Given the description of an element on the screen output the (x, y) to click on. 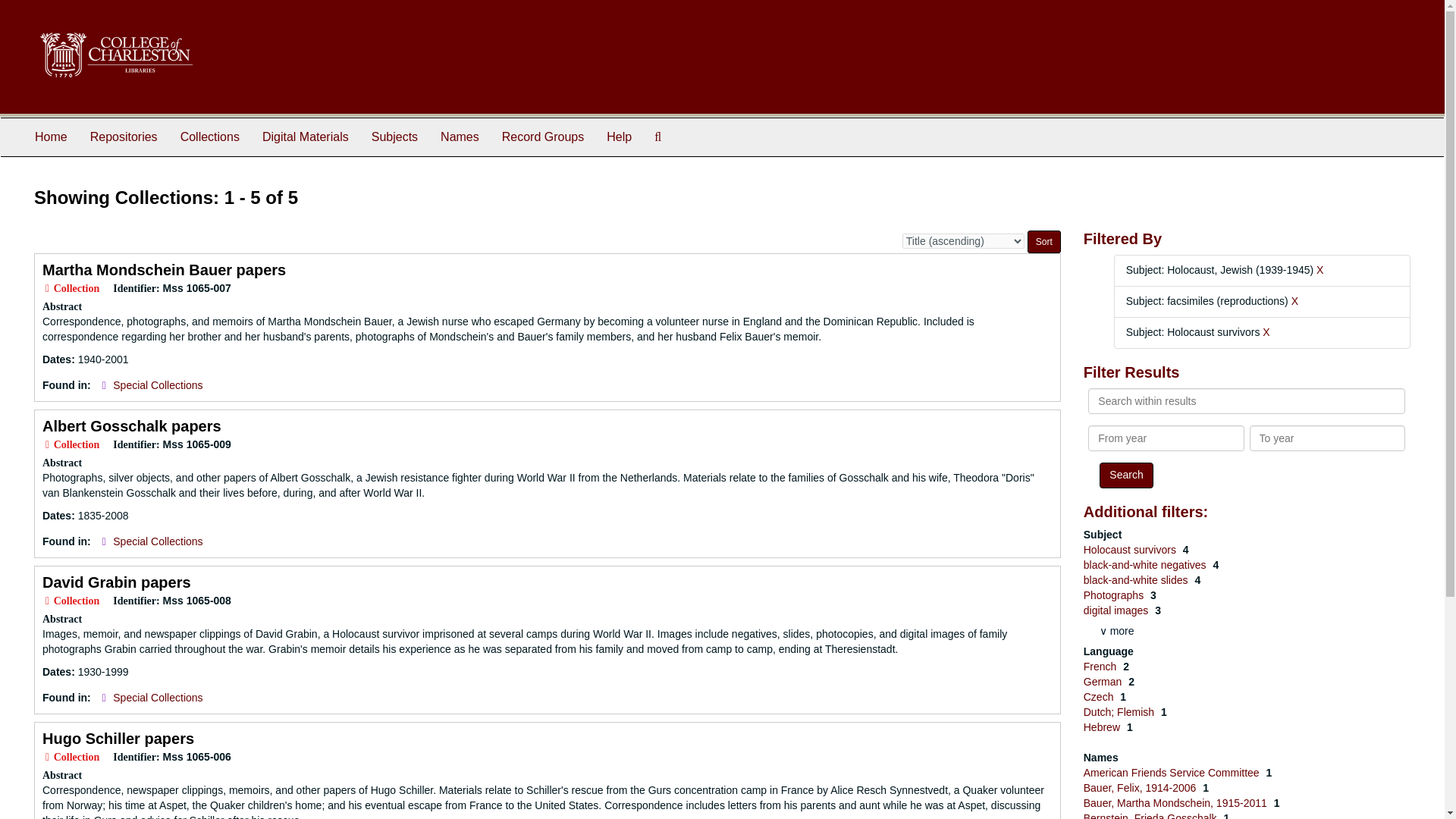
black-and-white slides (1137, 580)
Special Collections (157, 541)
Special Collections (157, 385)
translation missing: en.Help (619, 136)
David Grabin papers (116, 582)
Sort (1044, 241)
Martha Mondschein Bauer papers (163, 269)
Holocaust survivors (1131, 549)
Albert Gosschalk papers (131, 425)
Names (459, 136)
